Given the description of an element on the screen output the (x, y) to click on. 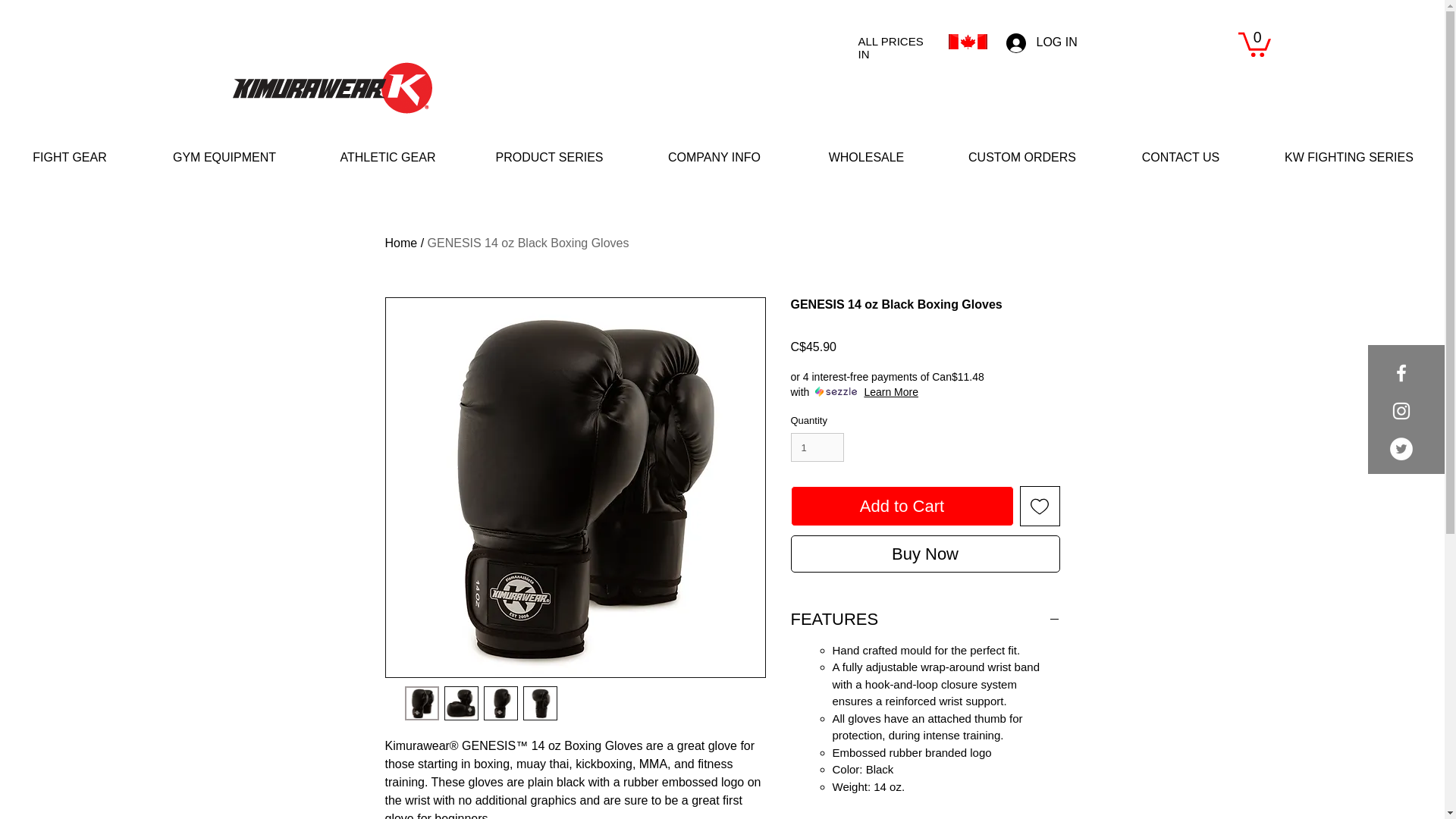
1 (817, 447)
Site Search (1158, 42)
0 (1253, 43)
0 (1253, 42)
LOG IN (1040, 42)
